Given the description of an element on the screen output the (x, y) to click on. 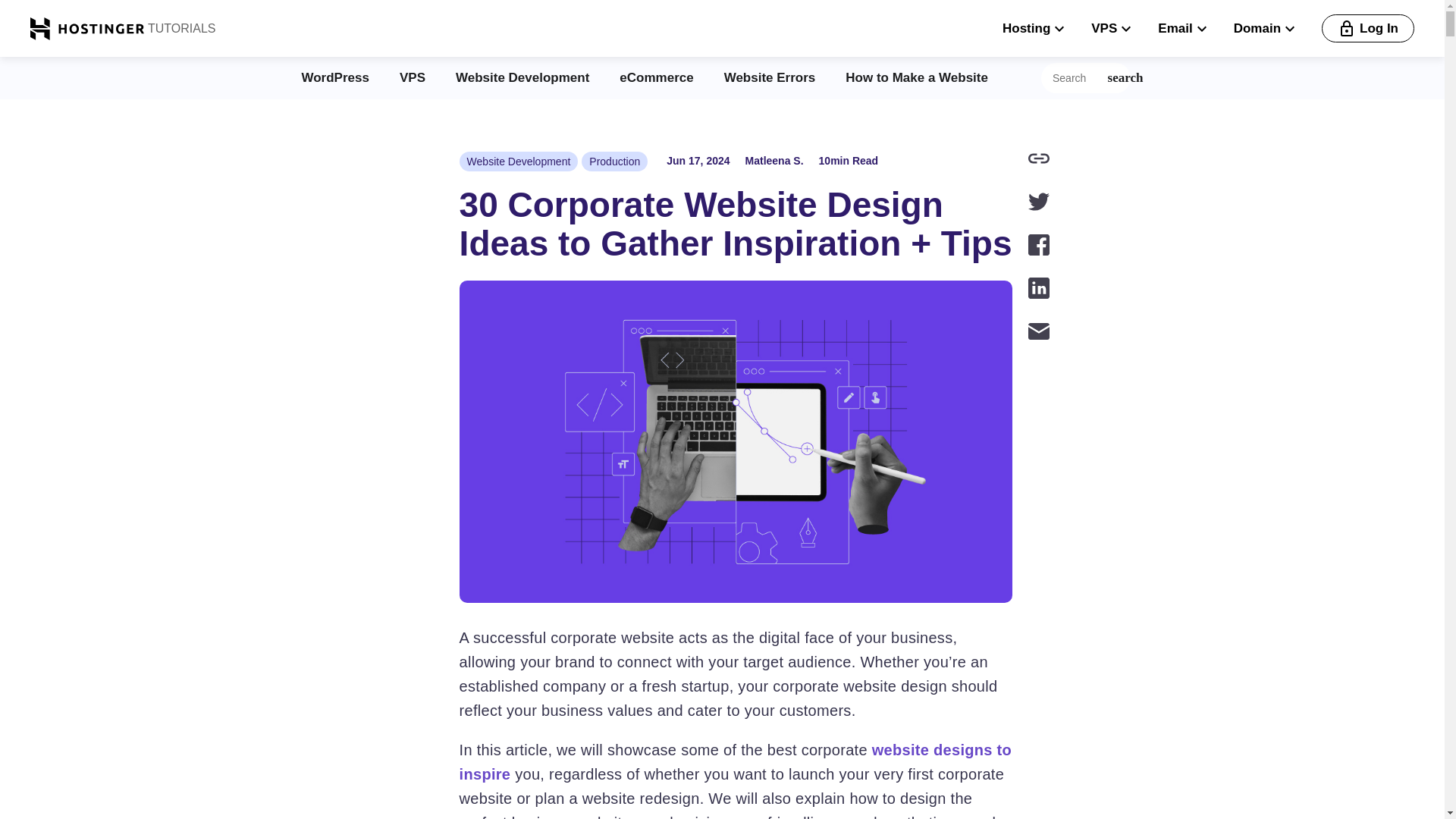
How to Make a Website (916, 77)
Website Development (519, 161)
VPS (411, 77)
eCommerce (656, 77)
Website Development (522, 77)
Production (613, 161)
Website Errors (769, 77)
Log In (1367, 28)
WordPress (335, 77)
TUTORIALS (179, 28)
